Given the description of an element on the screen output the (x, y) to click on. 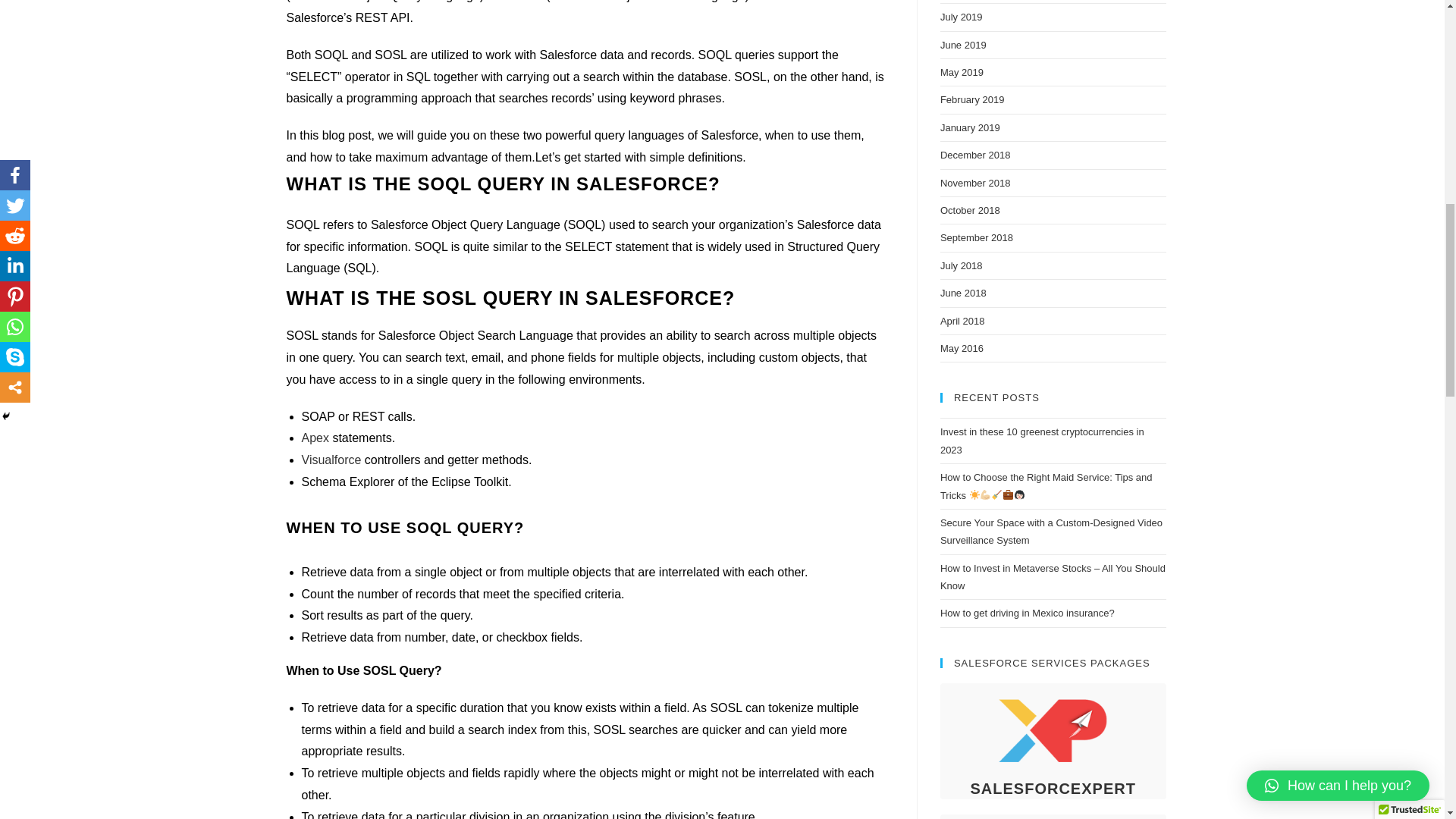
Apex (315, 437)
Visualforce (333, 459)
